Given the description of an element on the screen output the (x, y) to click on. 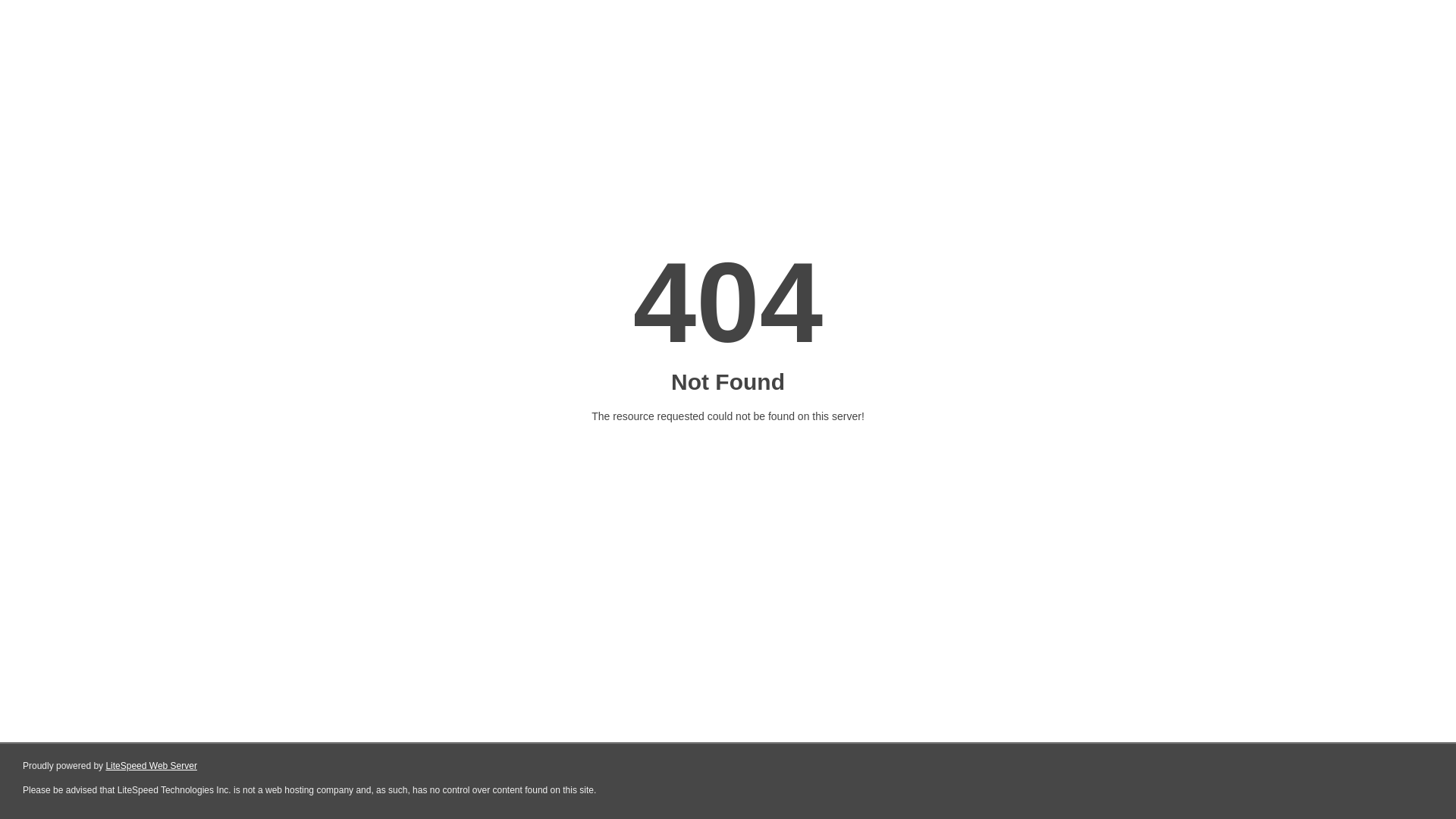
LiteSpeed Web Server Element type: text (151, 765)
